Given the description of an element on the screen output the (x, y) to click on. 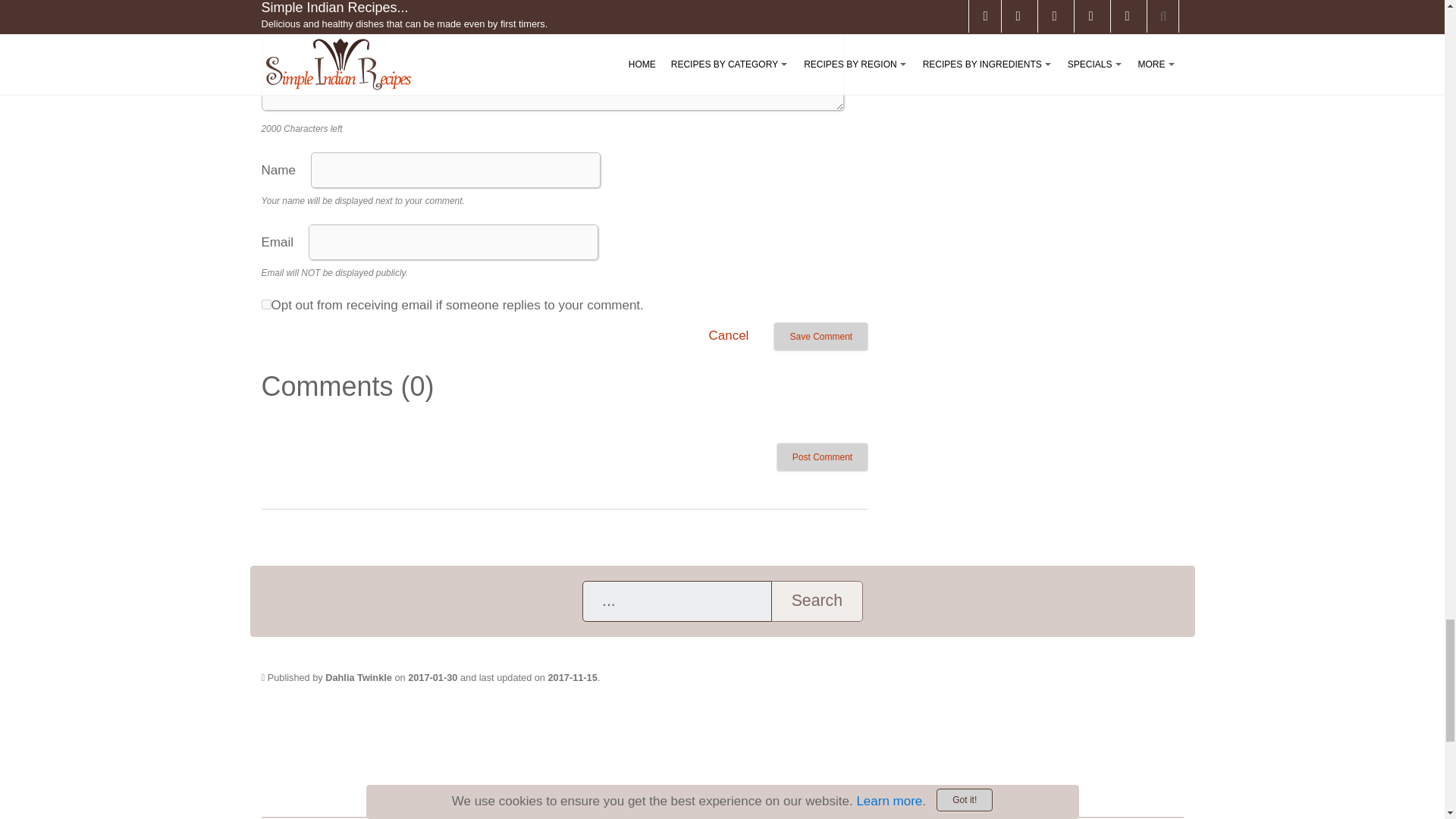
Save Comment (820, 336)
on (265, 304)
Search (816, 600)
